Given the description of an element on the screen output the (x, y) to click on. 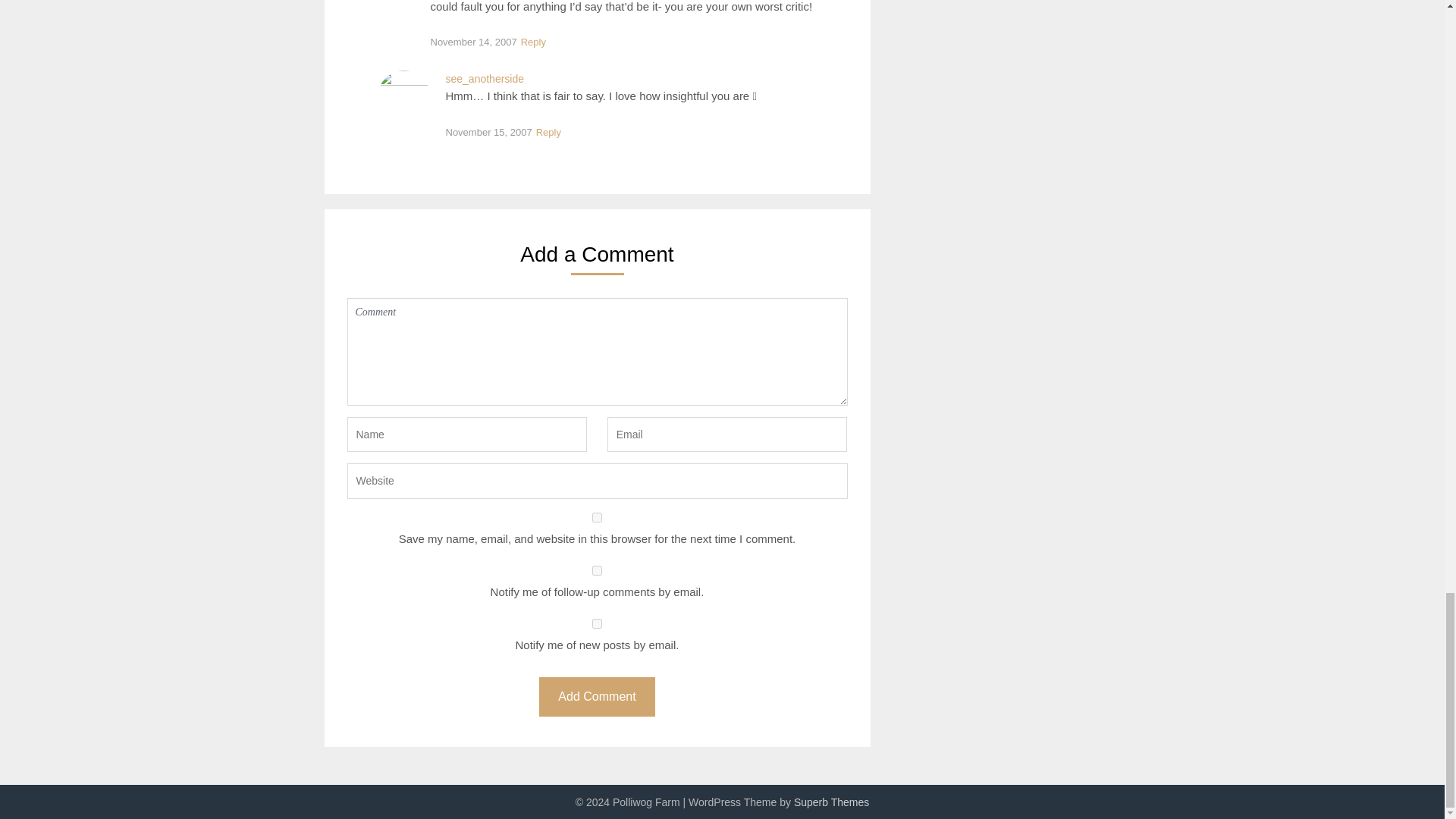
yes (597, 517)
Add Comment (595, 697)
Reply (533, 42)
Superb Themes (831, 802)
subscribe (597, 623)
subscribe (597, 570)
Reply (548, 132)
Add Comment (595, 697)
